Given the description of an element on the screen output the (x, y) to click on. 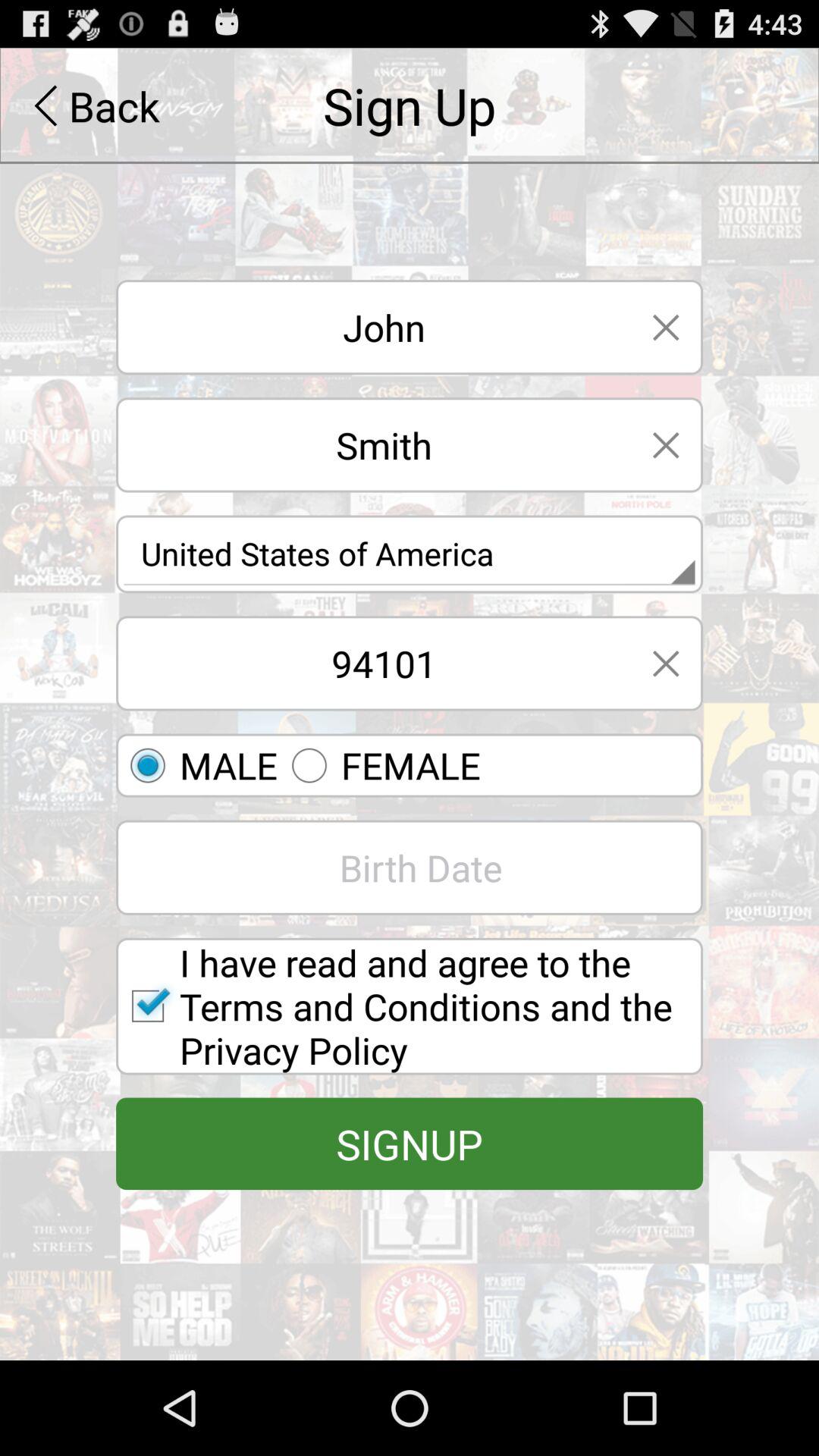
enter birthday (409, 867)
